Given the description of an element on the screen output the (x, y) to click on. 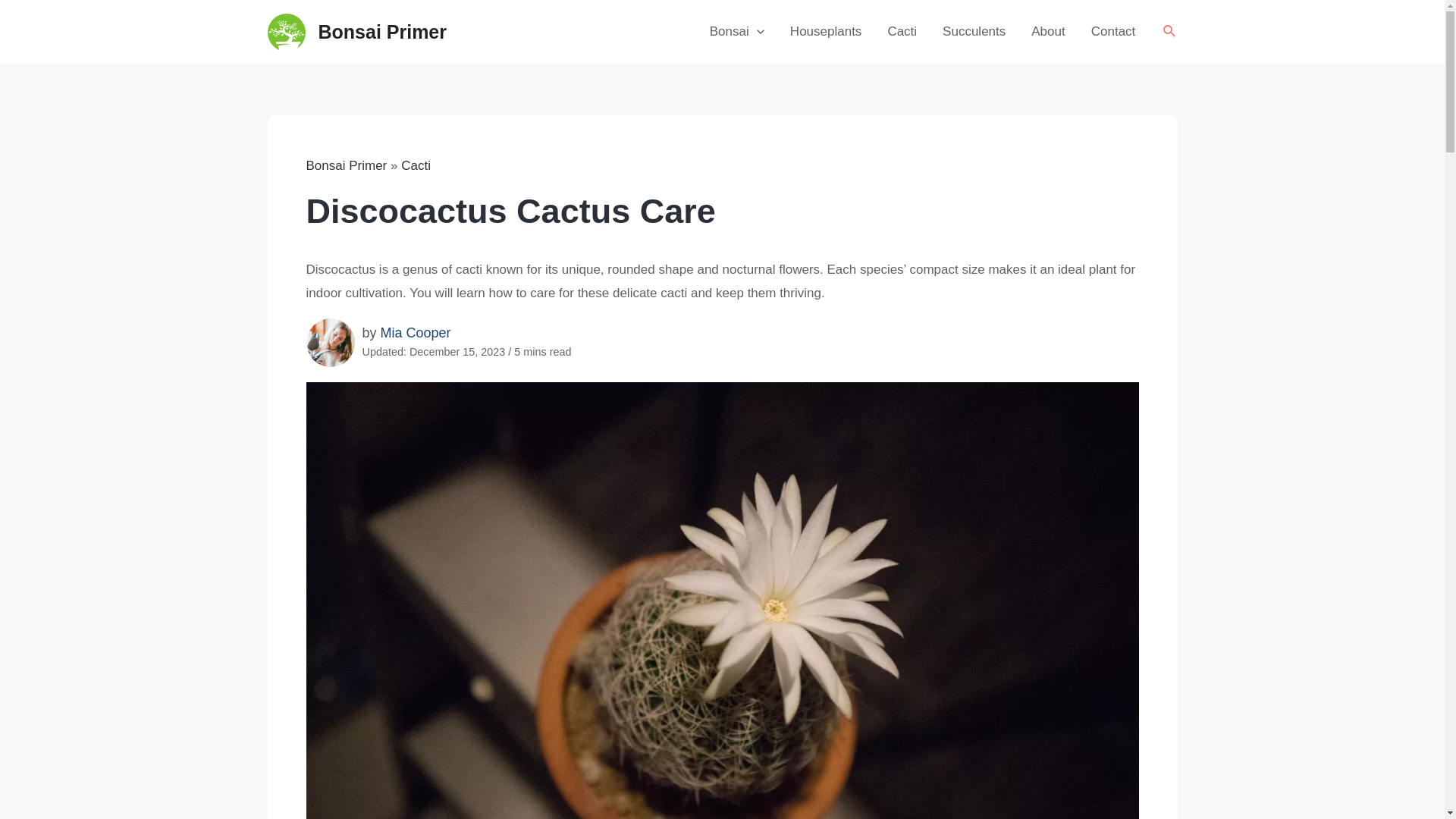
Bonsai Primer (346, 165)
Succulents (973, 31)
Houseplants (826, 31)
Contact (1113, 31)
Mia Cooper (415, 332)
About (1047, 31)
Search (1169, 31)
Cacti (902, 31)
Bonsai (737, 31)
Cacti (415, 165)
Bonsai Primer (382, 31)
